Given the description of an element on the screen output the (x, y) to click on. 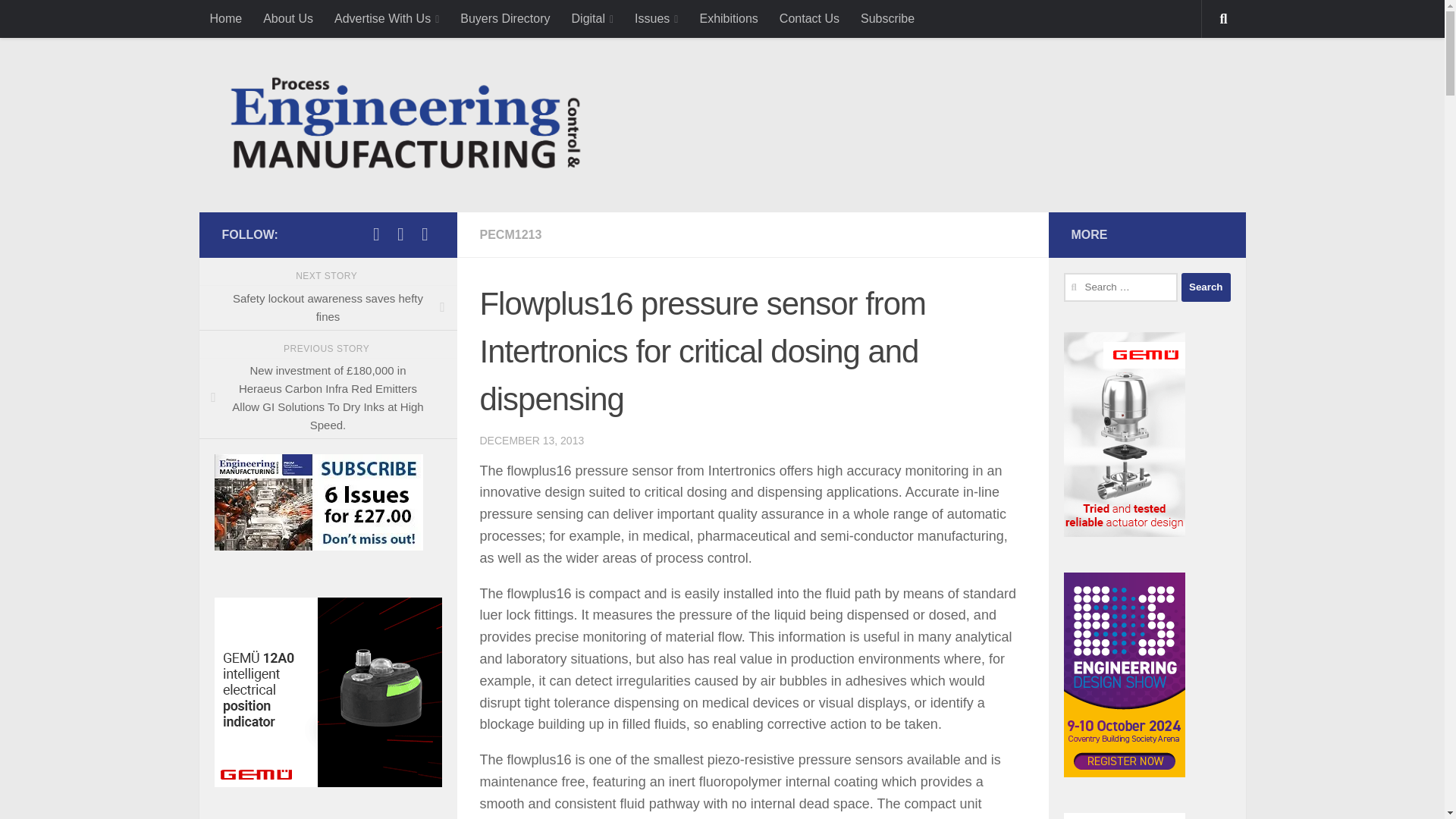
Home (224, 18)
Follow us on Twitter (375, 234)
Digital (592, 18)
Follow us on Phone (400, 234)
Search (1205, 287)
Follow us on Email (423, 234)
Skip to content (63, 20)
About Us (287, 18)
Search (1205, 287)
Issues (656, 18)
